Given the description of an element on the screen output the (x, y) to click on. 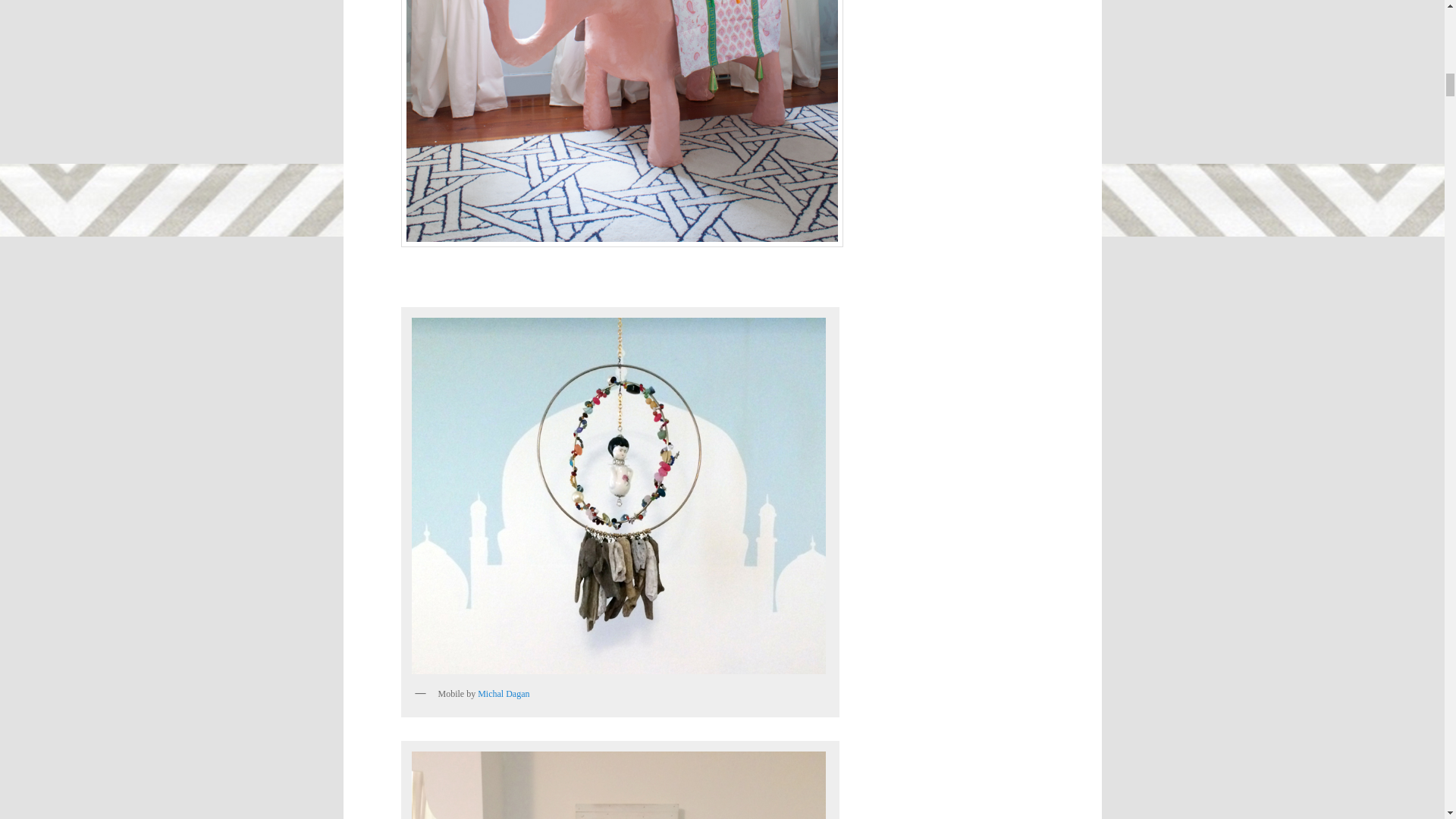
Michal Dagan (503, 693)
